Given the description of an element on the screen output the (x, y) to click on. 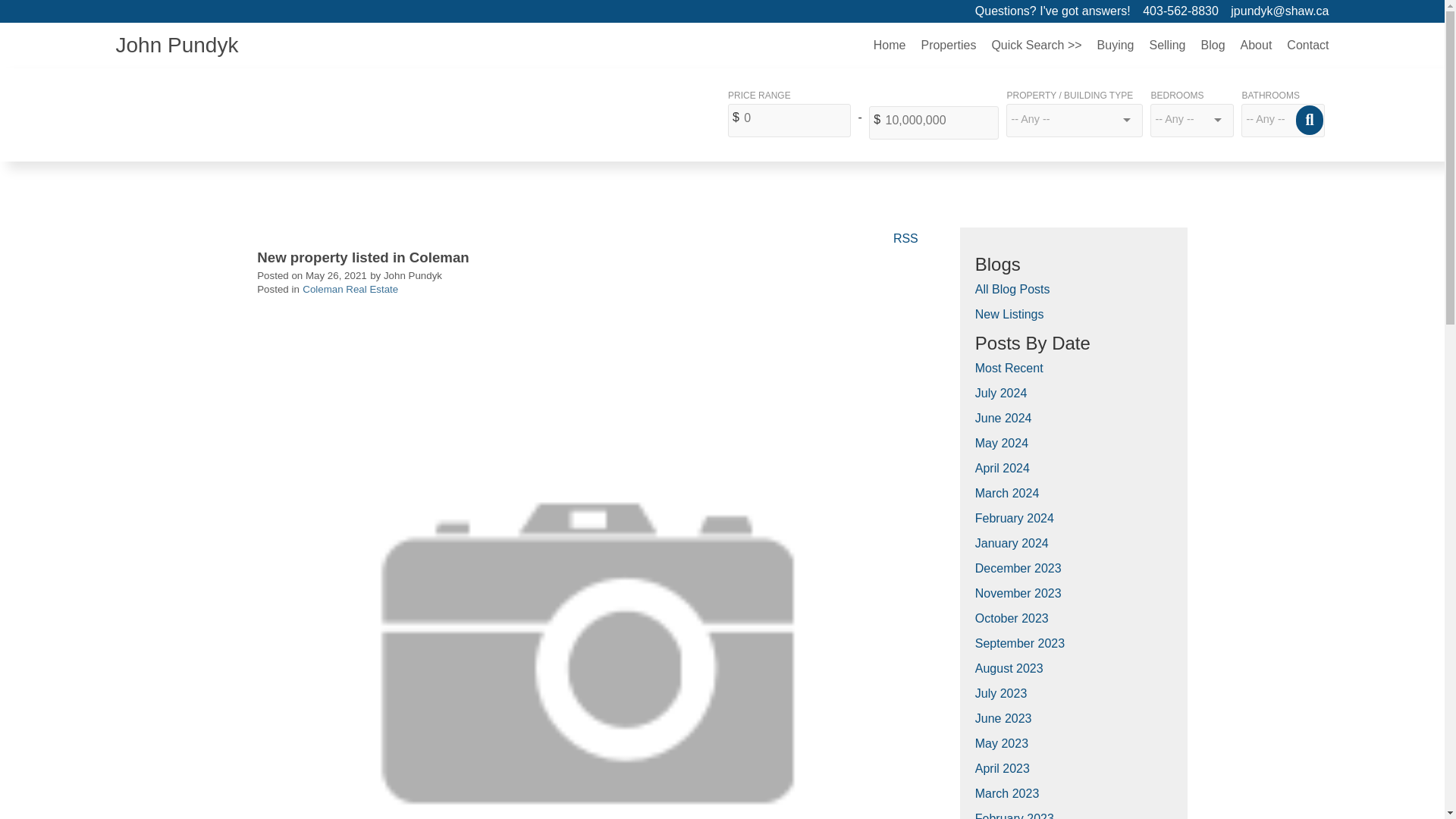
Buying (1115, 45)
Selling (1166, 45)
RSS (905, 237)
Properties (948, 45)
403-562-8830 (1184, 10)
Home (890, 45)
New Listings (1009, 314)
About (1256, 45)
Coleman Real Estate (349, 288)
All Blog Posts (1012, 288)
Contact (1303, 45)
Blog (1213, 45)
